Given the description of an element on the screen output the (x, y) to click on. 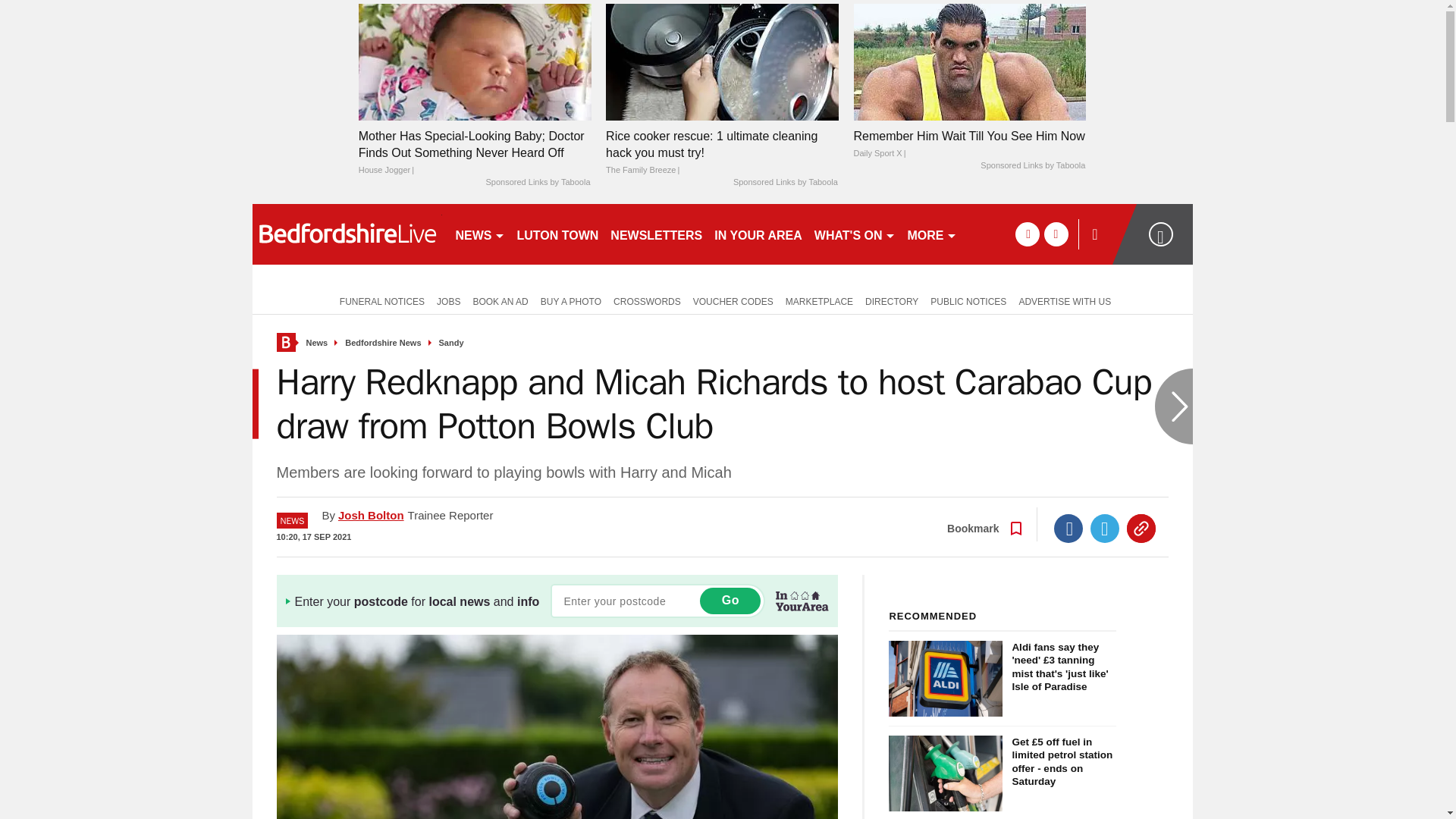
Sponsored Links by Taboola (1031, 165)
IN YOUR AREA (757, 233)
Remember Him Wait Till You See Him Now (969, 61)
Go (730, 601)
Facebook (1068, 528)
bedfordshirelive (346, 233)
BOOK AN AD (499, 300)
MORE (931, 233)
facebook (1026, 233)
Rice cooker rescue: 1 ultimate cleaning hack you must try! (721, 61)
twitter (1055, 233)
Sponsored Links by Taboola (536, 182)
Sponsored Links by Taboola (785, 182)
